Given the description of an element on the screen output the (x, y) to click on. 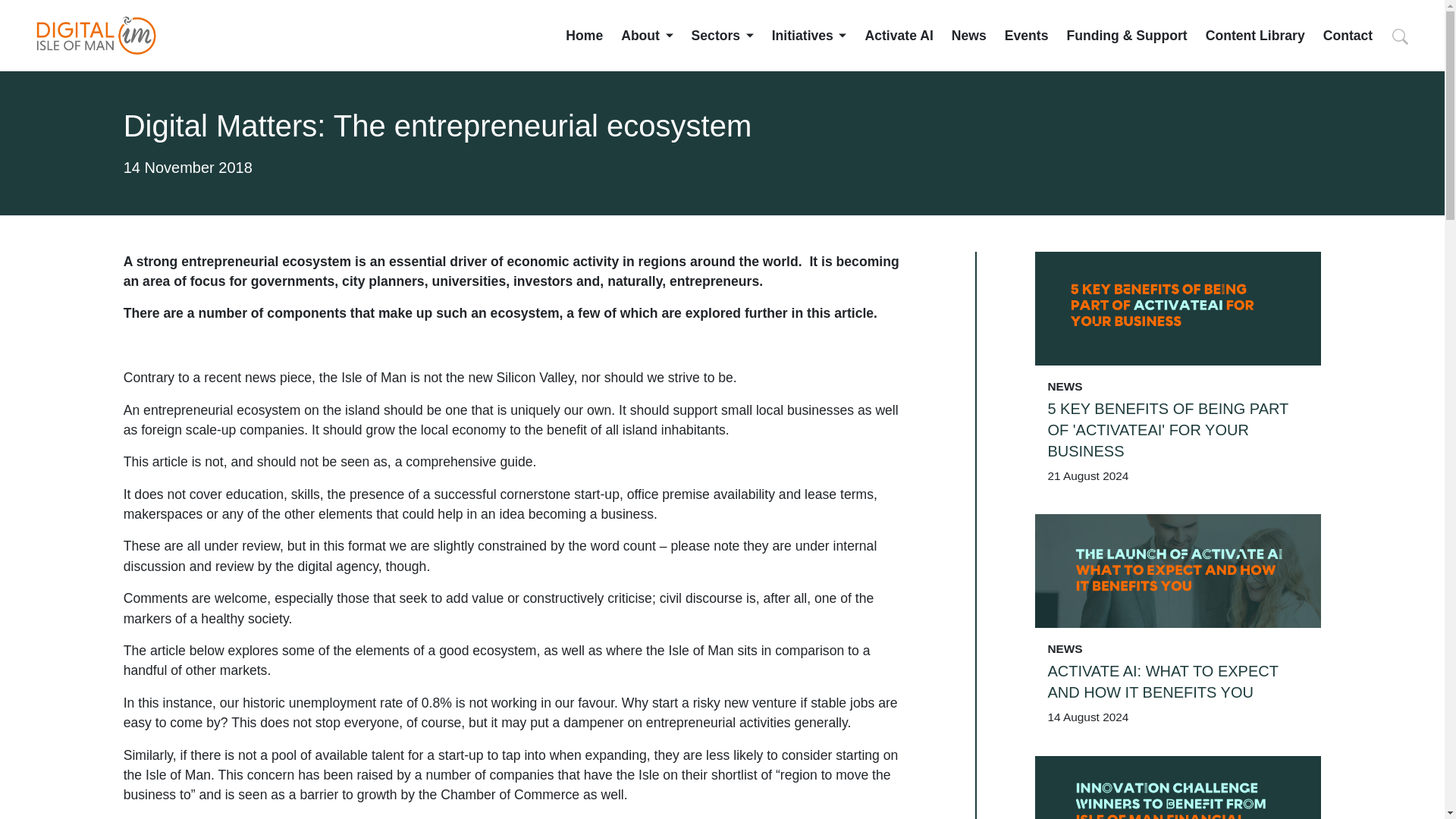
Initiatives (809, 35)
Sectors (722, 35)
Activate AI (898, 35)
ACTIVATE AI: WHAT TO EXPECT AND HOW IT BENEFITS YOU (1177, 681)
About (646, 35)
Contact (1348, 35)
Events (1026, 35)
Content Library (1254, 35)
